Given the description of an element on the screen output the (x, y) to click on. 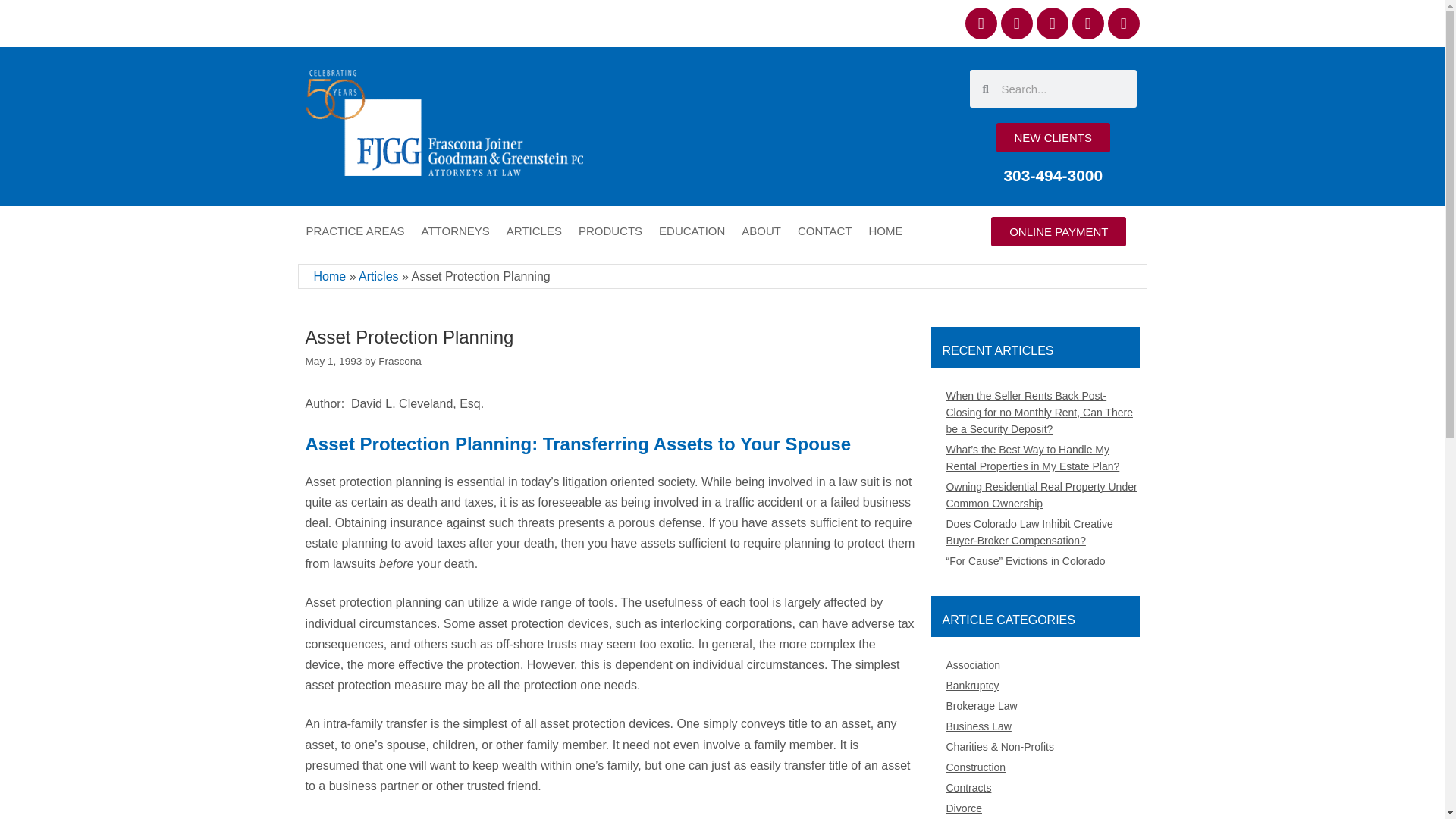
PRACTICE AREAS (354, 230)
ATTORNEYS (455, 230)
View all posts by Frascona (400, 360)
NEW CLIENTS (1052, 137)
